Given the description of an element on the screen output the (x, y) to click on. 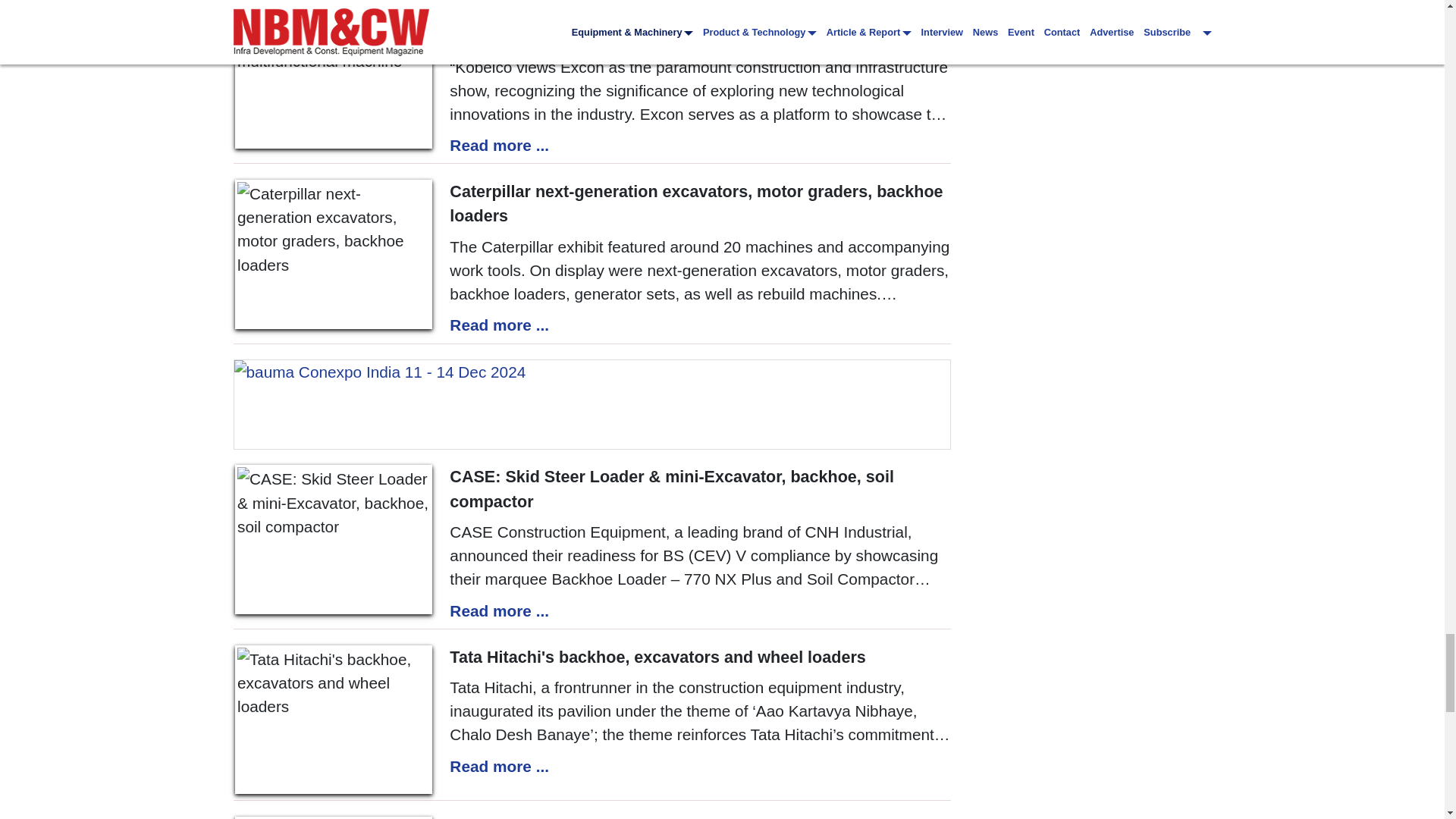
bauma Conexpo India 11 - 14 Dec 2024 (591, 403)
